Given the description of an element on the screen output the (x, y) to click on. 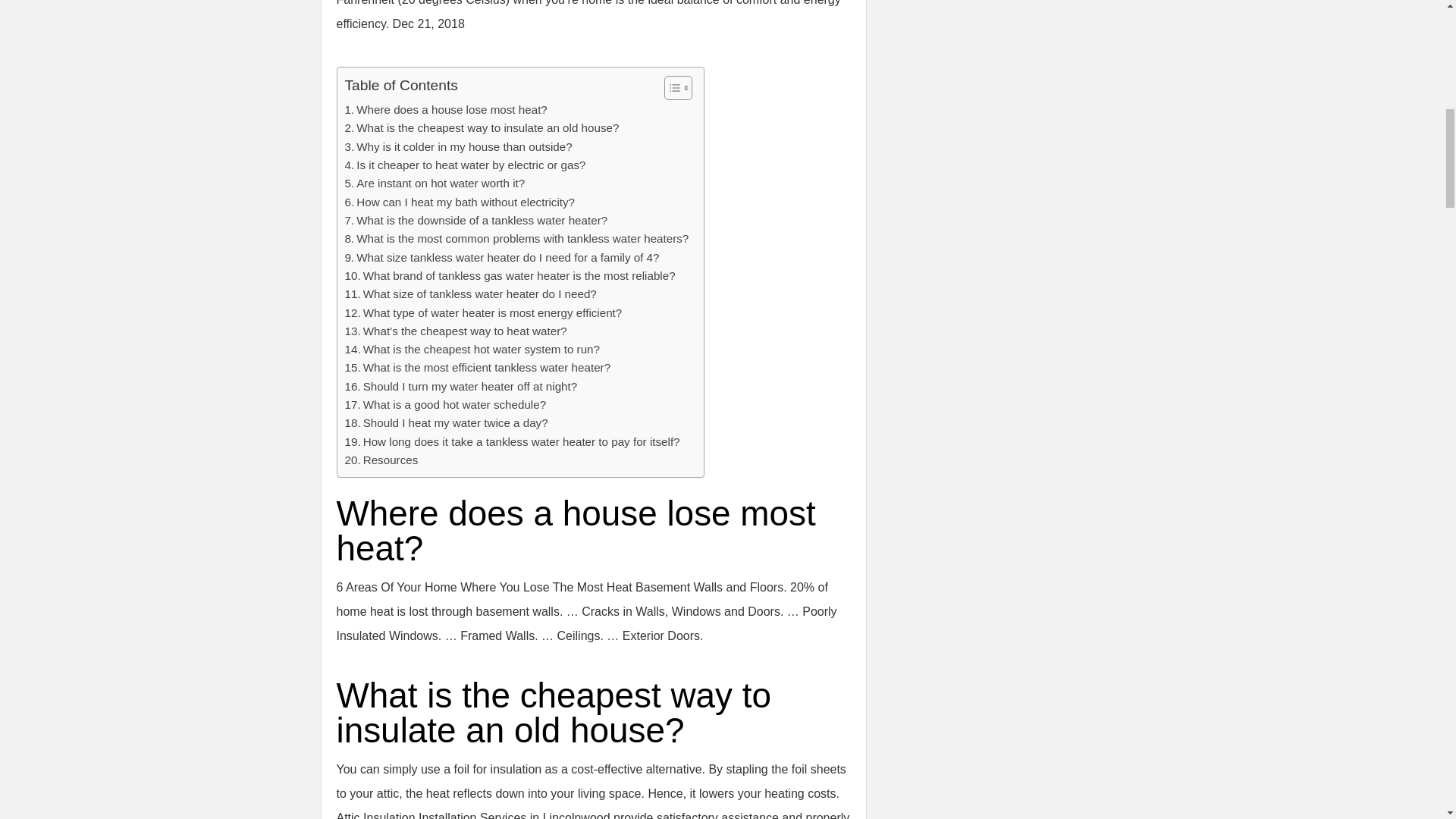
Should I turn my water heater off at night? (459, 386)
What size tankless water heater do I need for a family of 4? (501, 257)
How can I heat my bath without electricity? (459, 202)
What type of water heater is most energy efficient? (482, 312)
Resources (380, 460)
Is it cheaper to heat water by electric or gas? (464, 165)
What is the most efficient tankless water heater? (476, 367)
What is a good hot water schedule? (444, 404)
Should I heat my water twice a day? (445, 423)
